Given the description of an element on the screen output the (x, y) to click on. 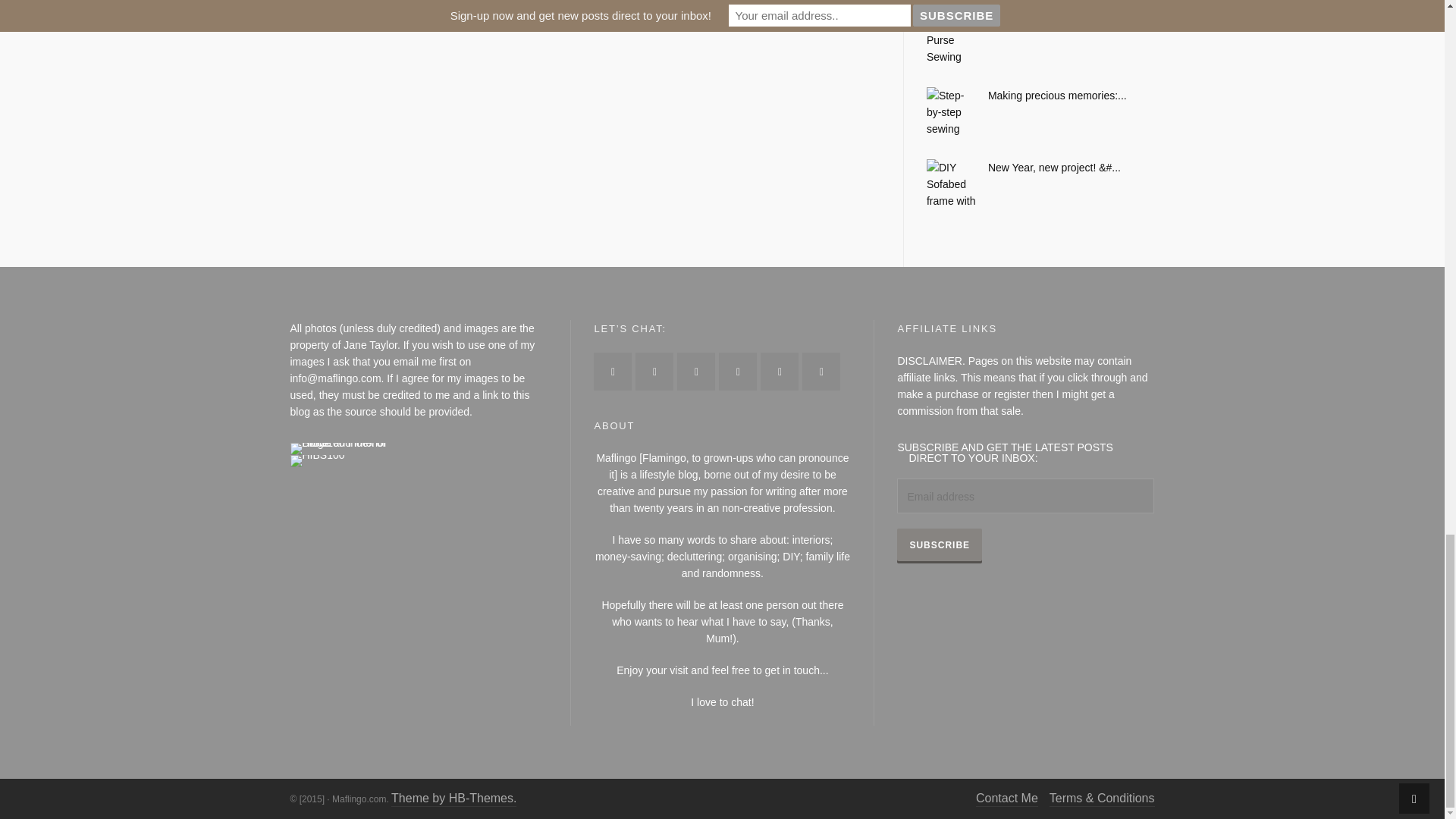
HIBS100 Index of Home and Interior Blogs (351, 447)
Easy step-by-step sewing tutorial: How to make a snap purse. (1040, 23)
Subscribe (938, 544)
Making precious memories: How to make a cushion using ties. (1040, 95)
